Given the description of an element on the screen output the (x, y) to click on. 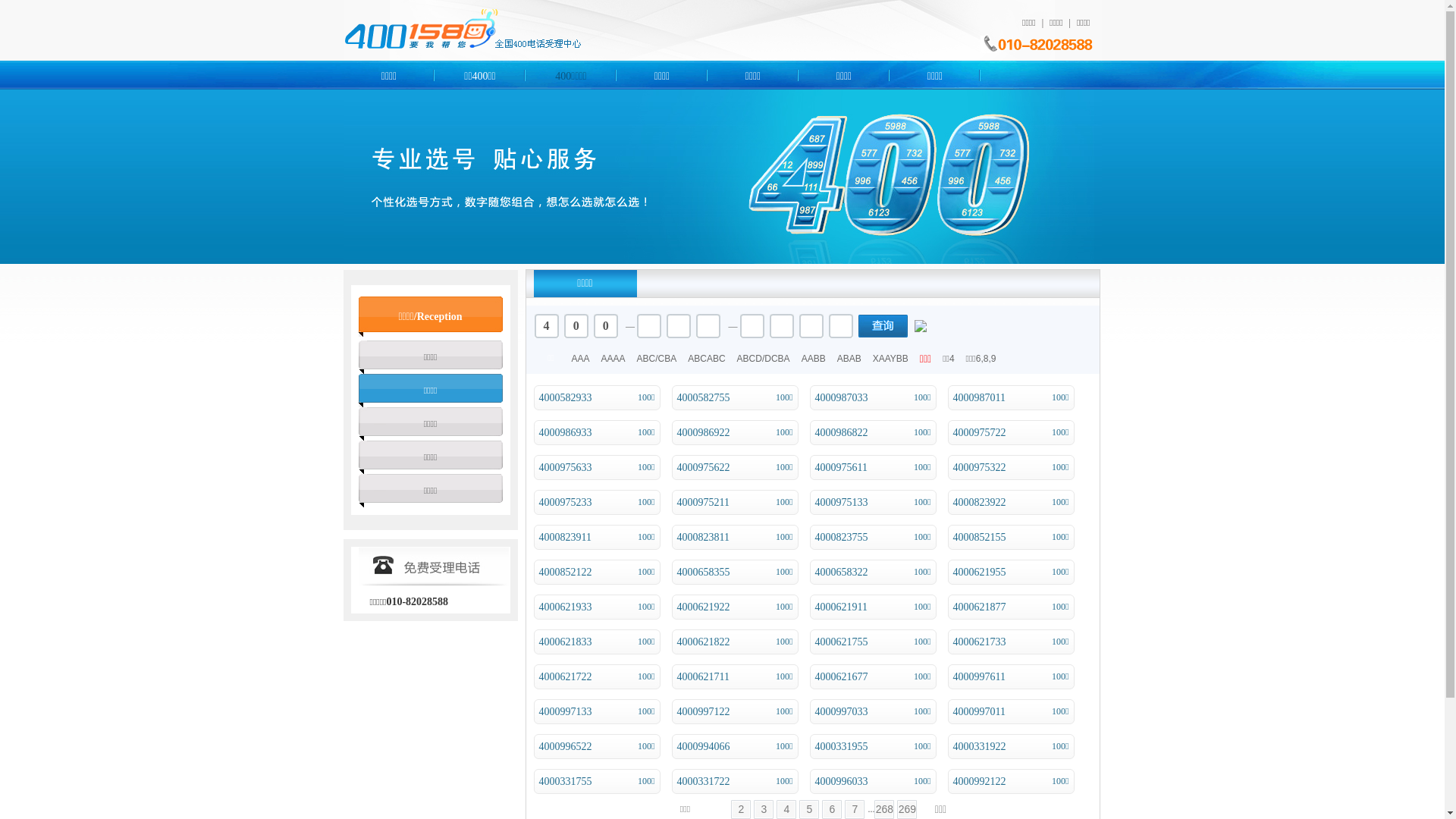
AAA Element type: text (580, 358)
AABB Element type: text (813, 358)
XAAYBB Element type: text (890, 358)
ABCABC Element type: text (706, 358)
AAAA Element type: text (613, 358)
ABC/CBA Element type: text (656, 358)
ABCD/DCBA Element type: text (763, 358)
ABAB Element type: text (849, 358)
